Given the description of an element on the screen output the (x, y) to click on. 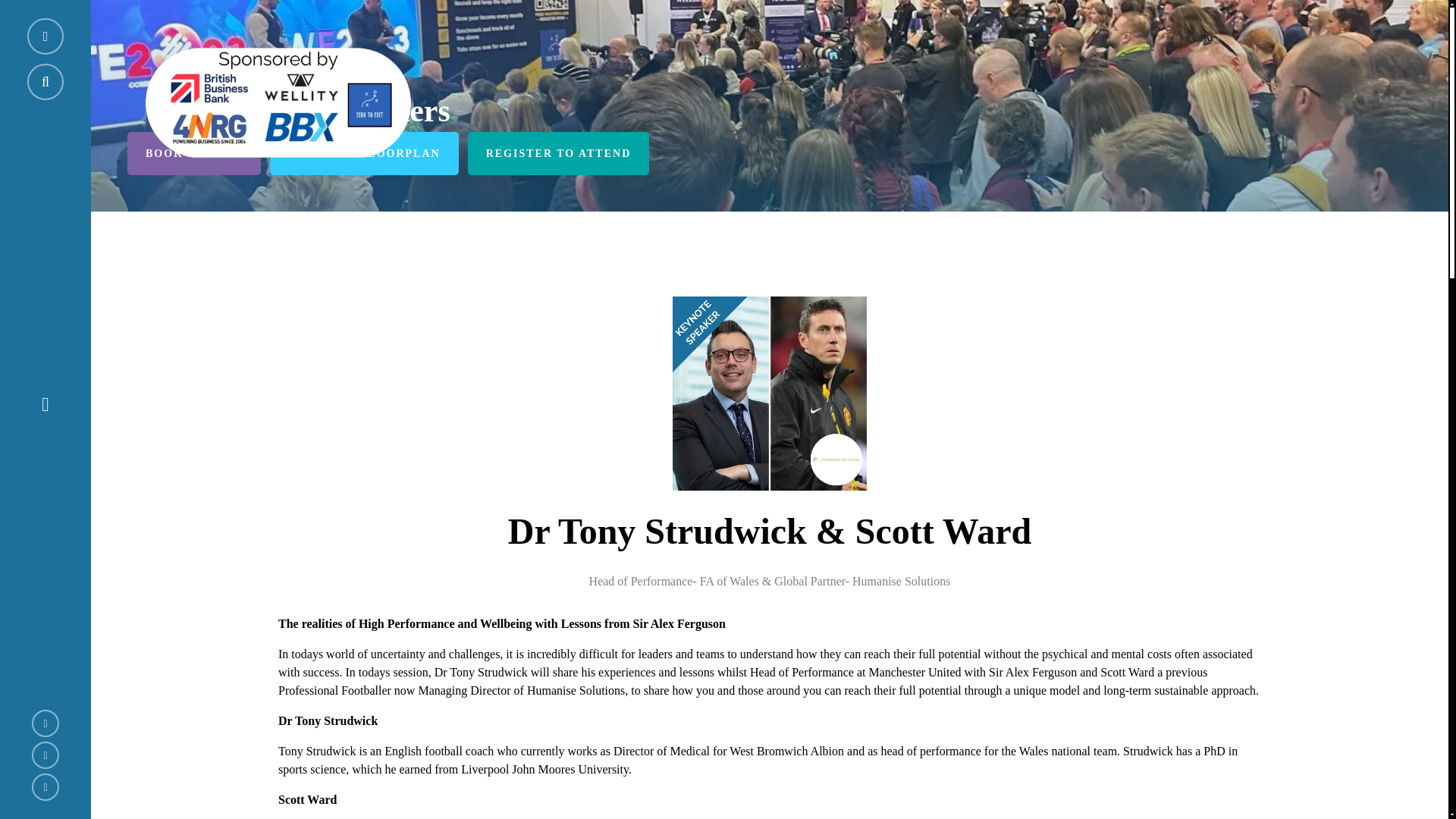
Twitter (45, 723)
Linkedin (45, 786)
Facebook (45, 755)
